Given the description of an element on the screen output the (x, y) to click on. 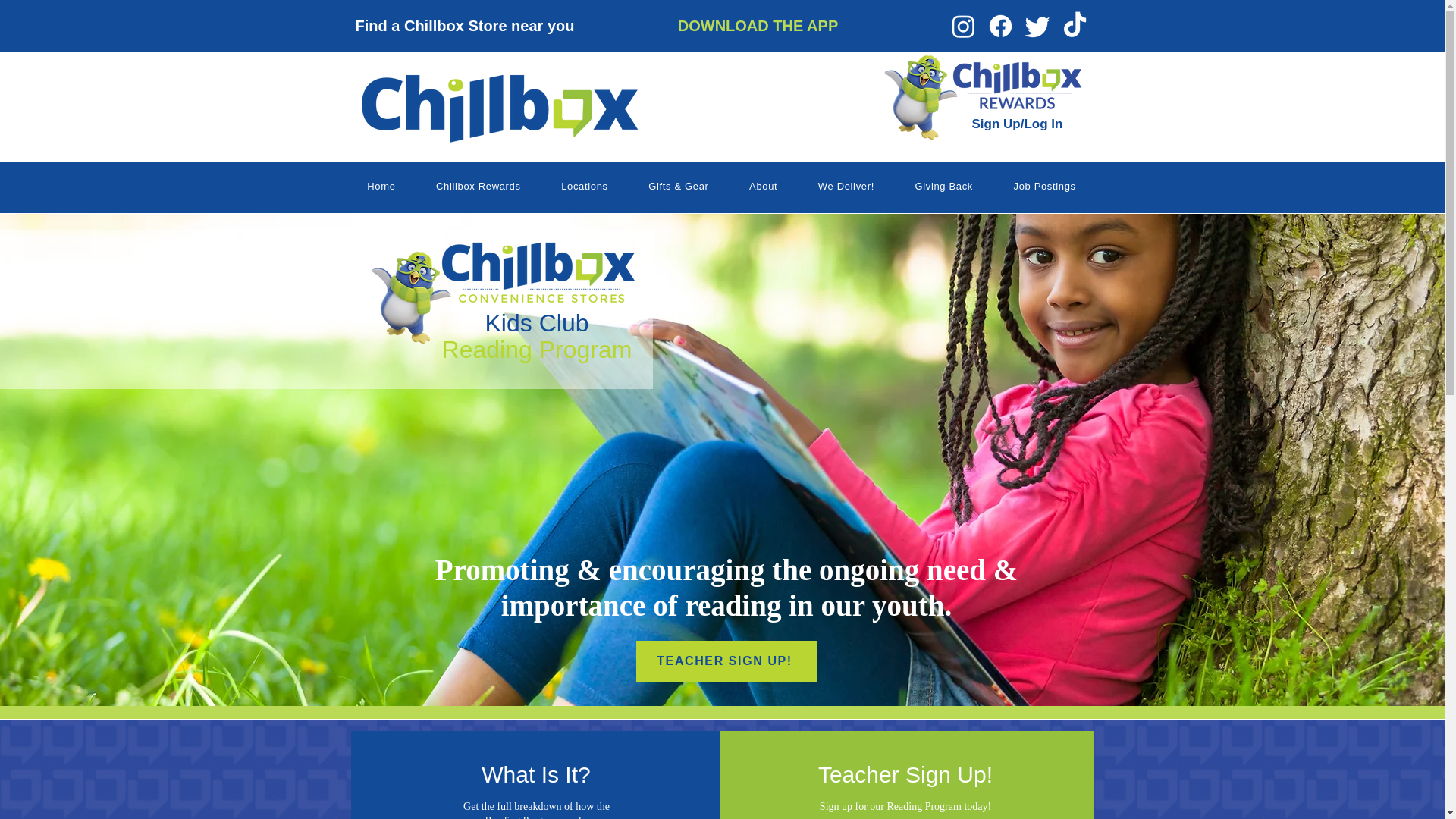
Chillbox Rewards (478, 185)
What Is It? (535, 775)
Locations (583, 185)
We Deliver! (845, 185)
Giving Back (944, 185)
About (763, 185)
Home (381, 185)
DOWNLOAD THE APP (758, 25)
TEACHER SIGN UP! (724, 661)
Job Postings (1044, 185)
